Given the description of an element on the screen output the (x, y) to click on. 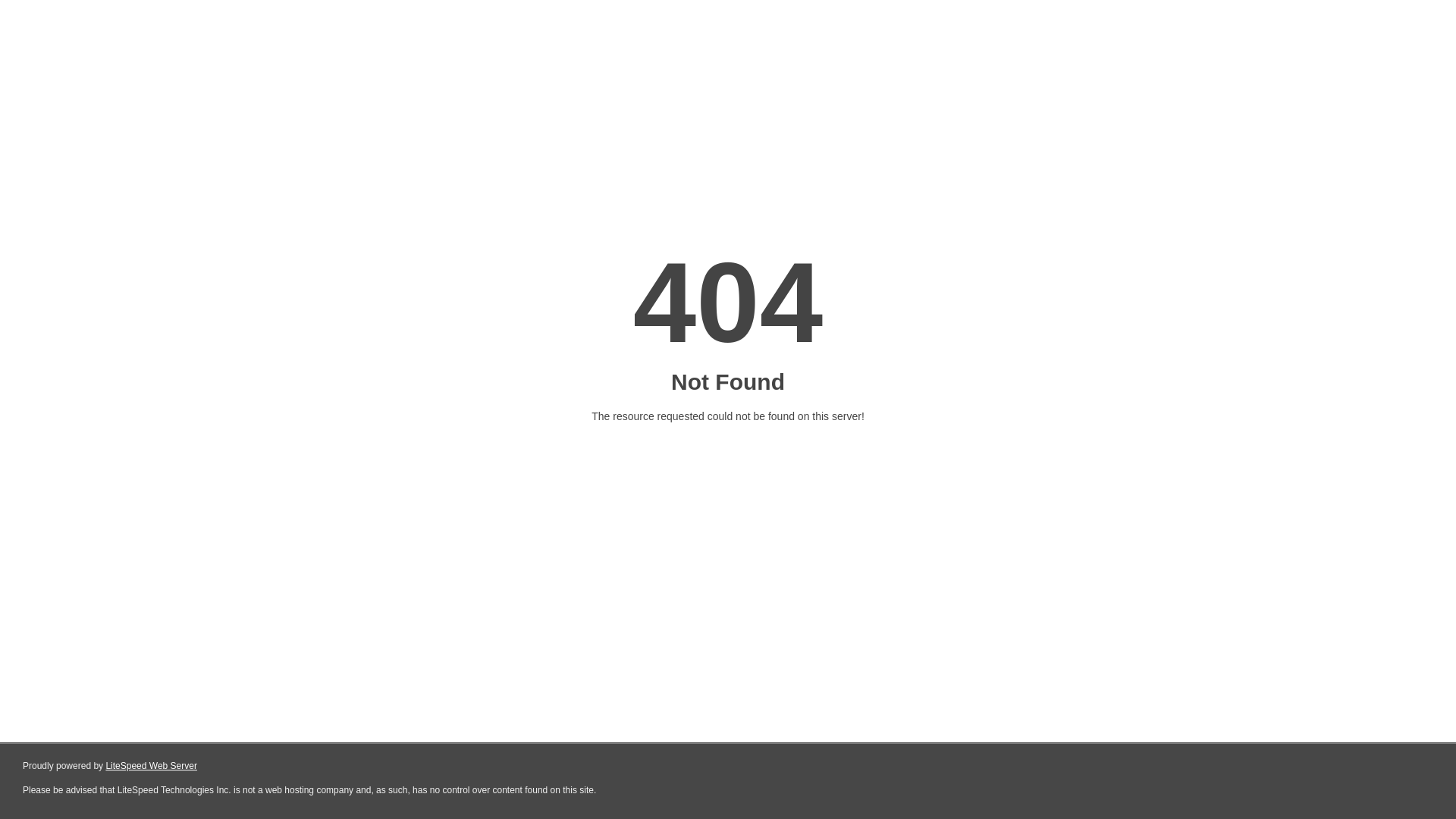
LiteSpeed Web Server Element type: text (151, 765)
